Given the description of an element on the screen output the (x, y) to click on. 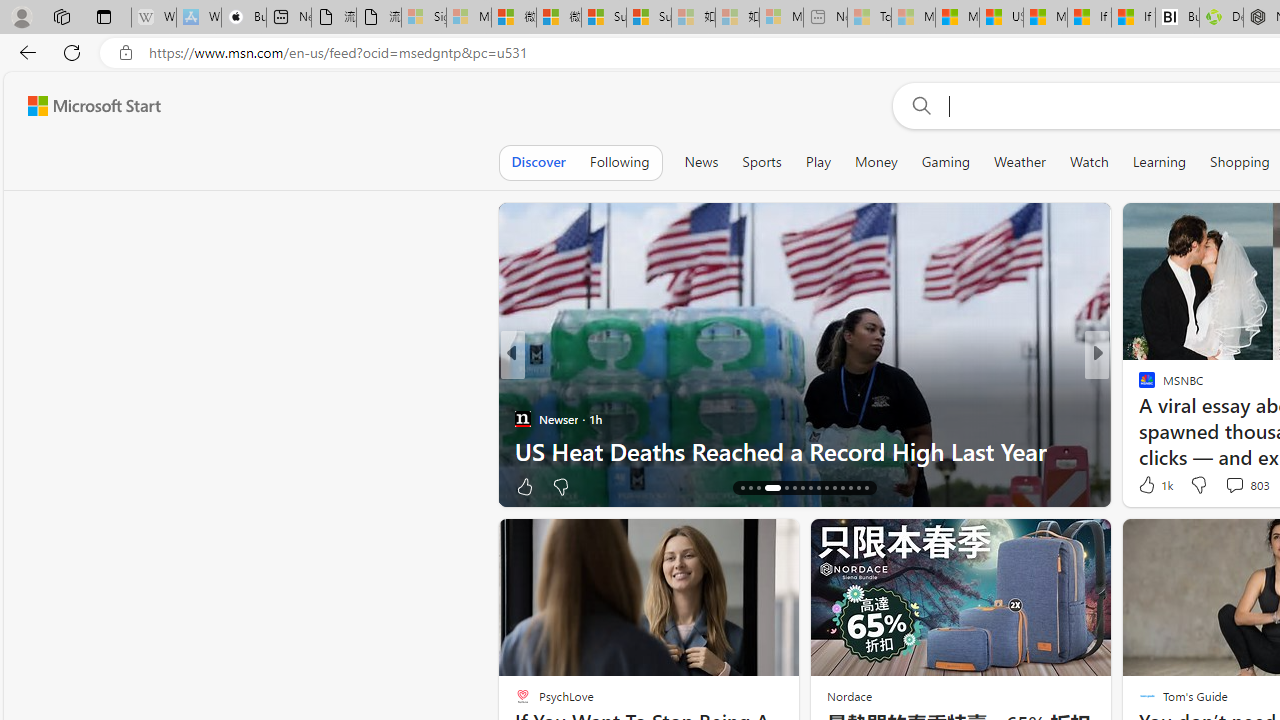
WOWK Charleston (1138, 418)
View comments 15 Comment (1234, 485)
View comments 21 Comment (1229, 485)
Nature of Home (1138, 386)
8 Like (1145, 486)
View comments 2 Comment (1229, 485)
AutomationID: tab-23 (810, 487)
US Heat Deaths Reached a Record High Last Year (804, 450)
AutomationID: tab-21 (793, 487)
The Enemy of Average (1138, 418)
AutomationID: tab-29 (857, 487)
